Given the description of an element on the screen output the (x, y) to click on. 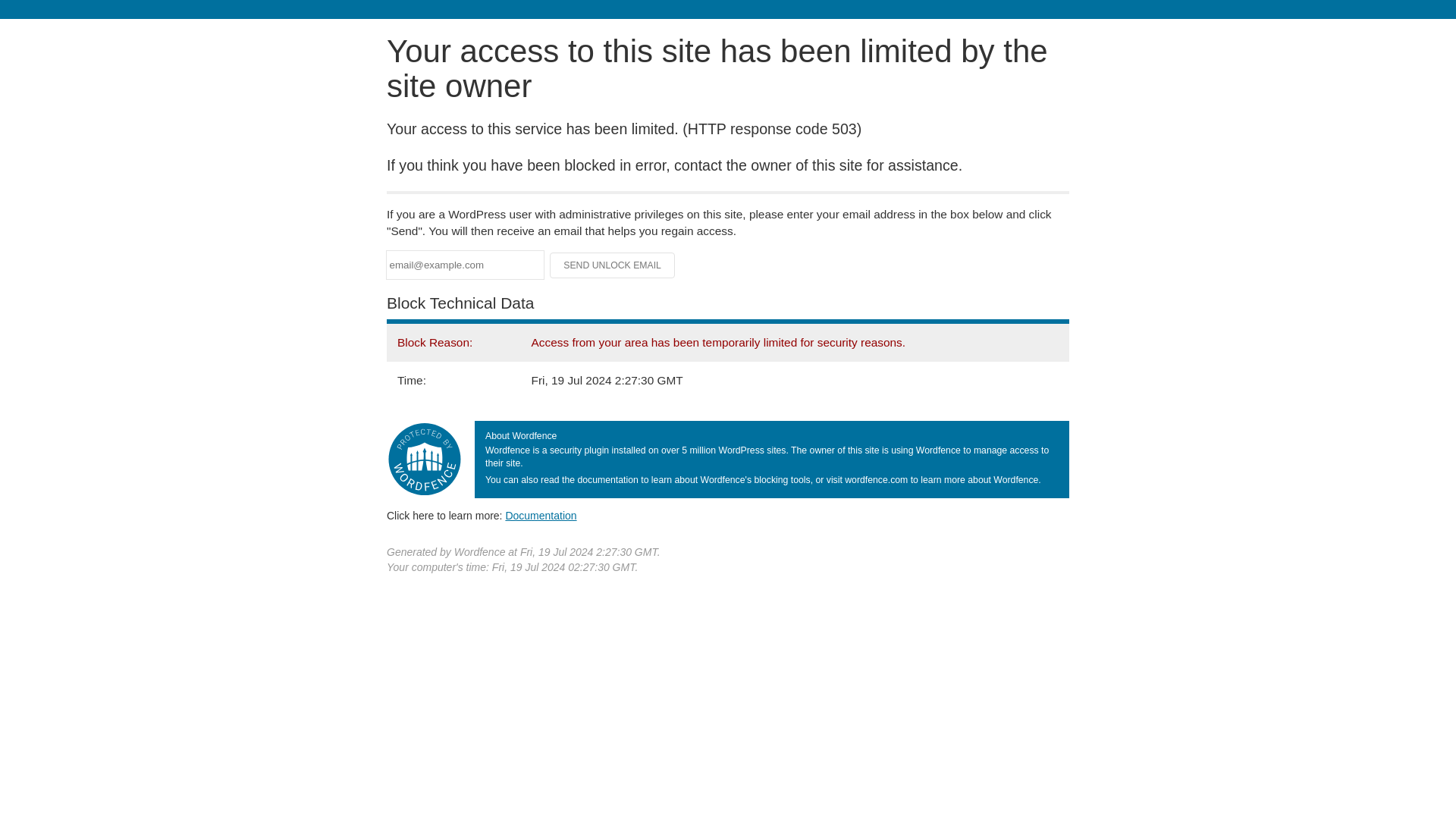
Documentation (540, 515)
Send Unlock Email (612, 265)
Send Unlock Email (612, 265)
